Given the description of an element on the screen output the (x, y) to click on. 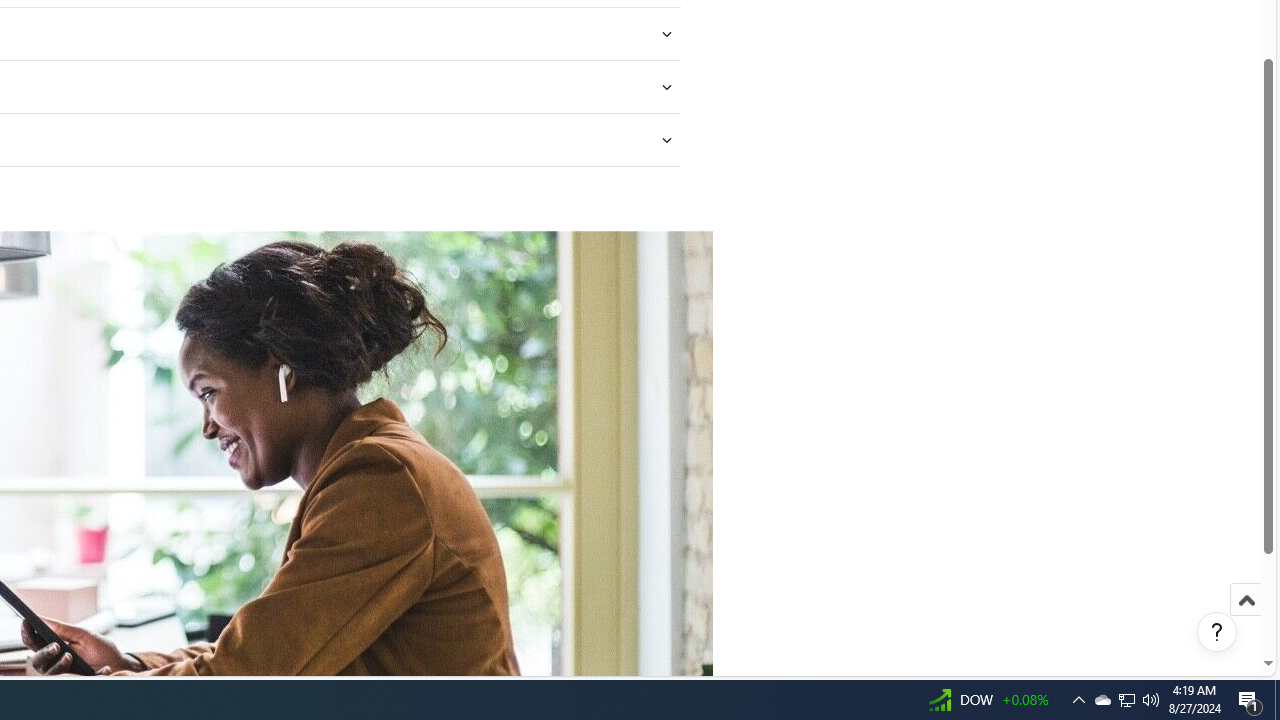
Scroll to top (1246, 620)
Scroll to top (1246, 599)
Help, opens dialogs (1217, 632)
